Given the description of an element on the screen output the (x, y) to click on. 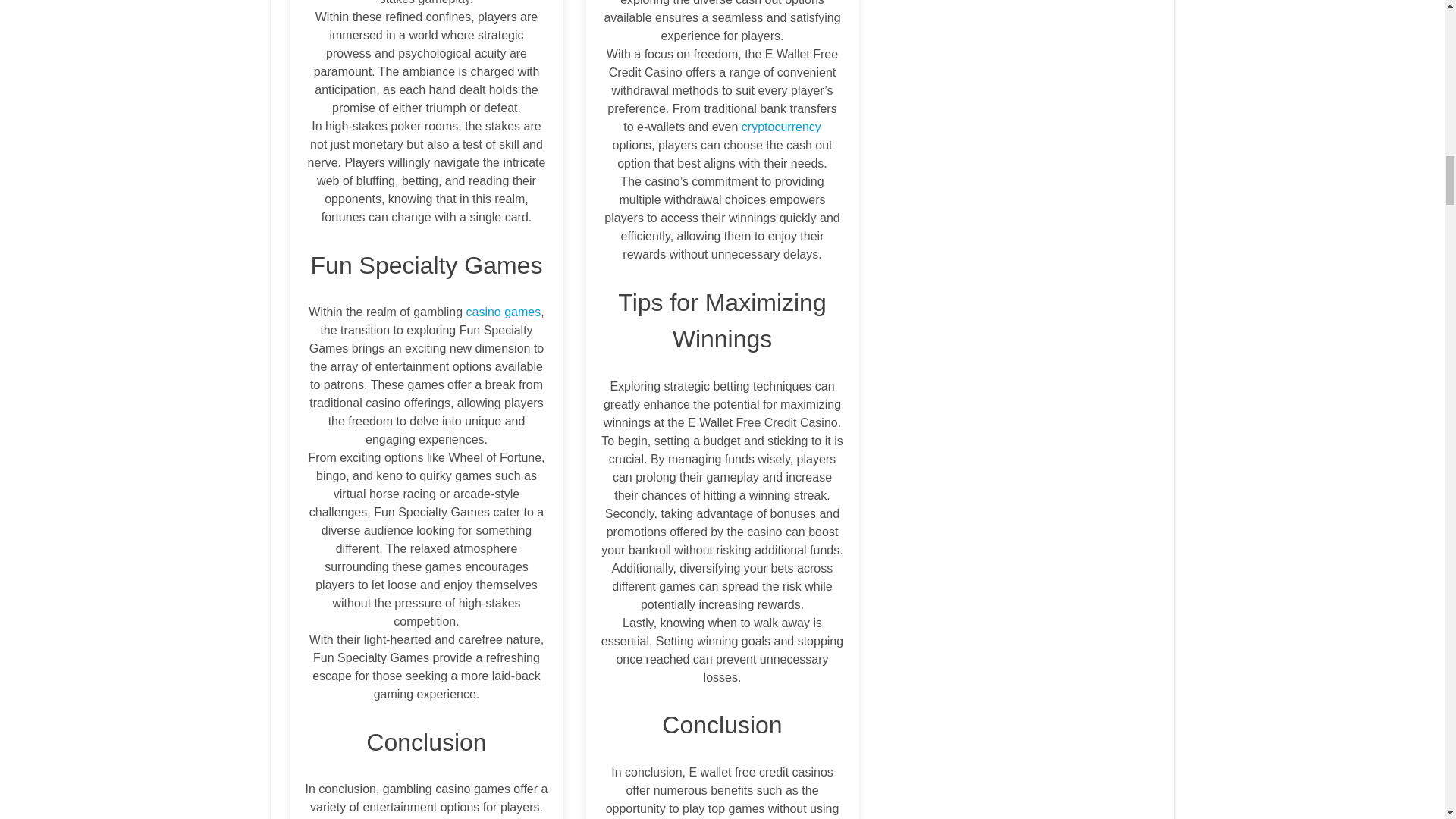
casino games (503, 311)
cryptocurrency (781, 126)
